Given the description of an element on the screen output the (x, y) to click on. 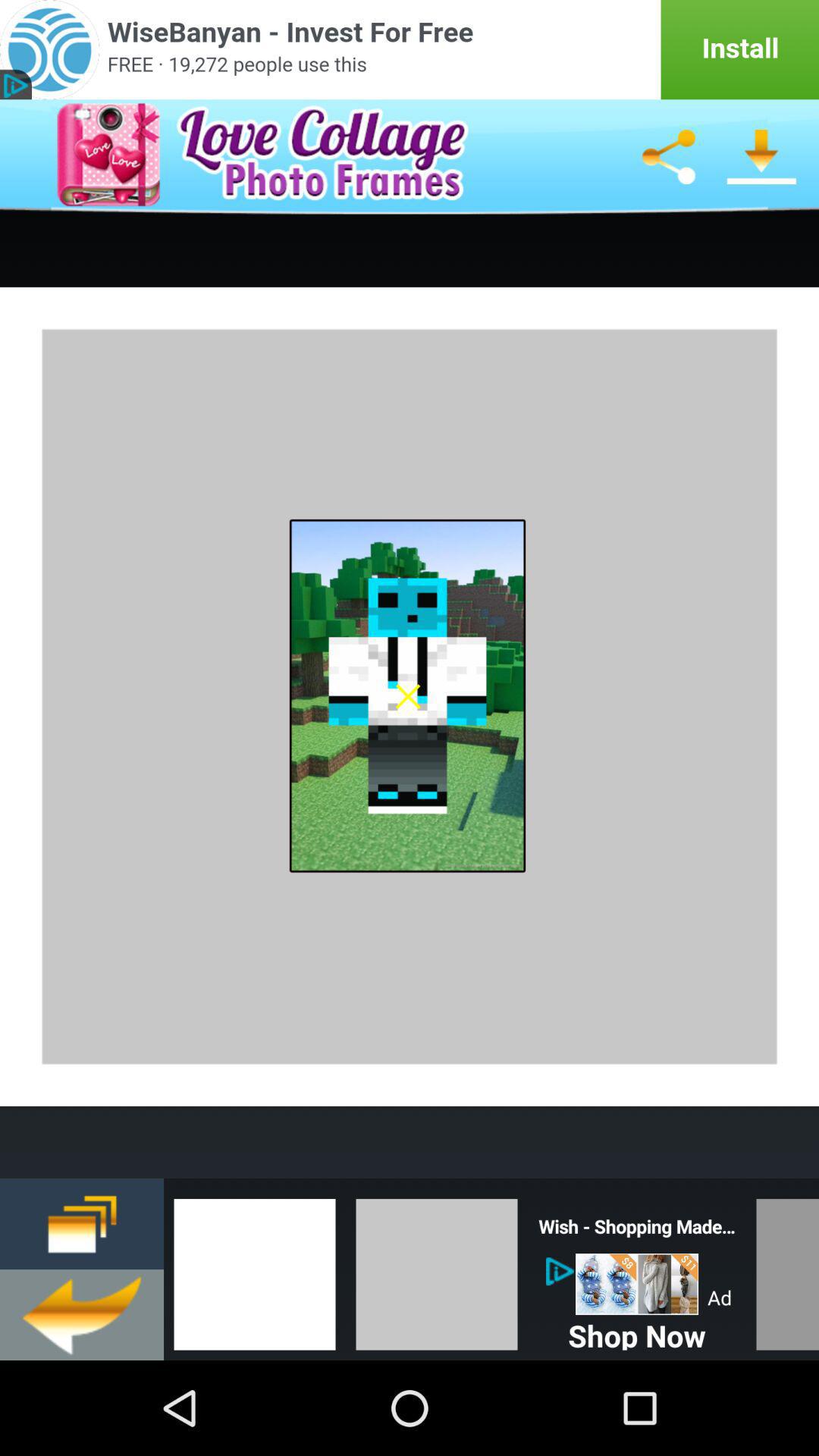
open advertisement (409, 49)
